Given the description of an element on the screen output the (x, y) to click on. 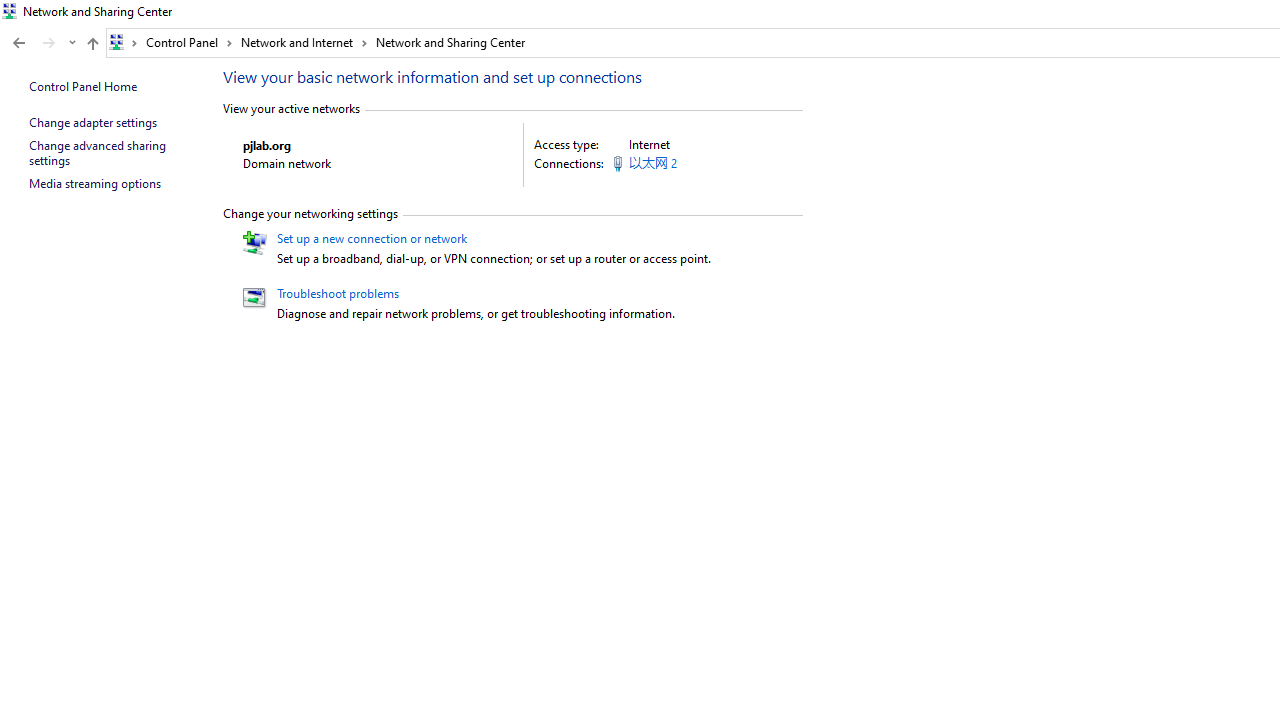
Network and Sharing Center (450, 42)
All locations (124, 42)
System (10, 11)
Media streaming options (94, 182)
